Given the description of an element on the screen output the (x, y) to click on. 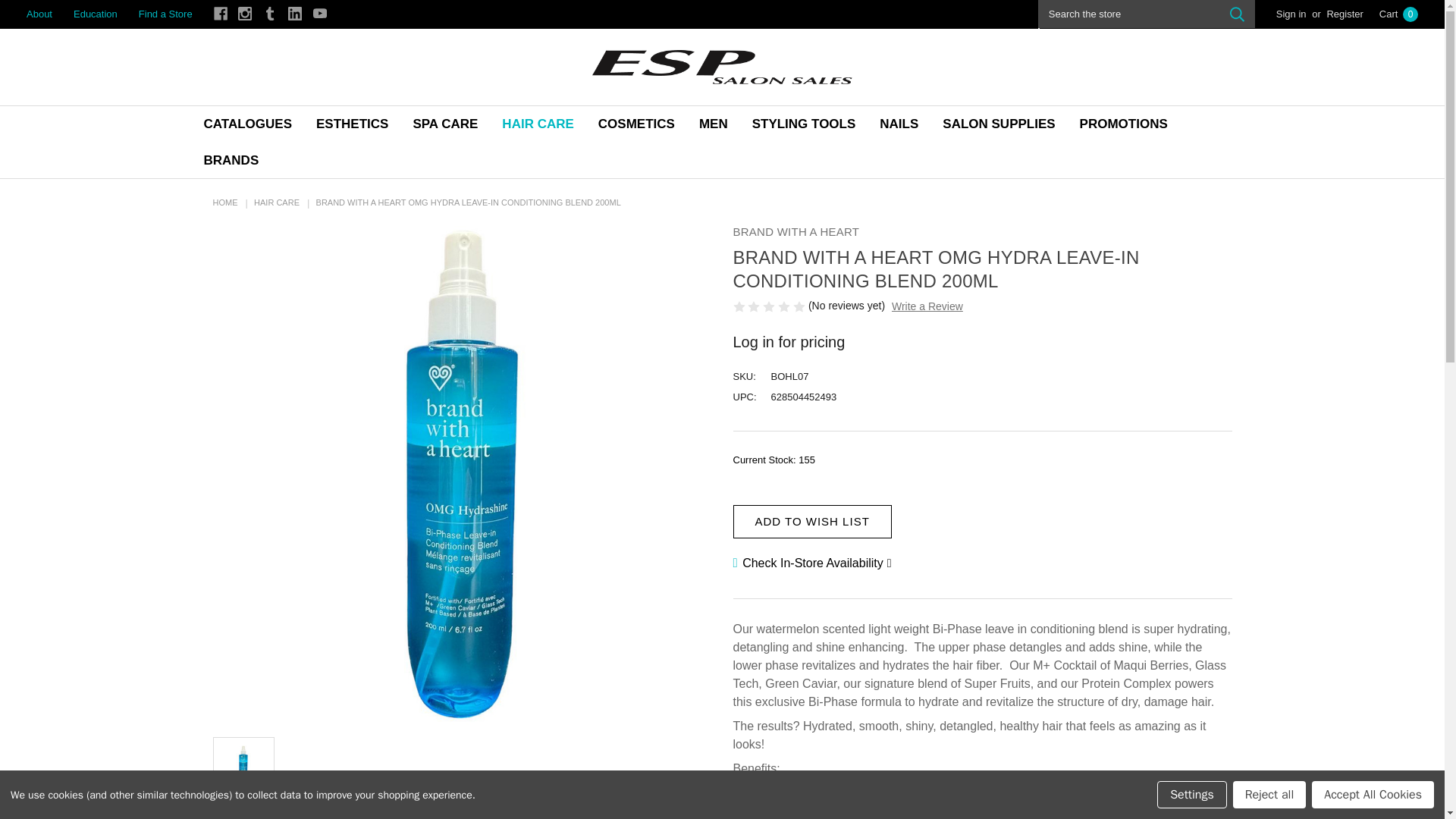
Sign in (1291, 14)
CATALOGUES (246, 123)
Cart 0 (1398, 14)
ESTHETICS (352, 123)
Linkedin (294, 13)
Facebook (220, 13)
Find a Store (165, 14)
Instagram (244, 13)
About (39, 14)
Tumblr (269, 13)
Education (95, 14)
ESP Salon Sales (722, 66)
Youtube (319, 13)
Register (1344, 14)
